Given the description of an element on the screen output the (x, y) to click on. 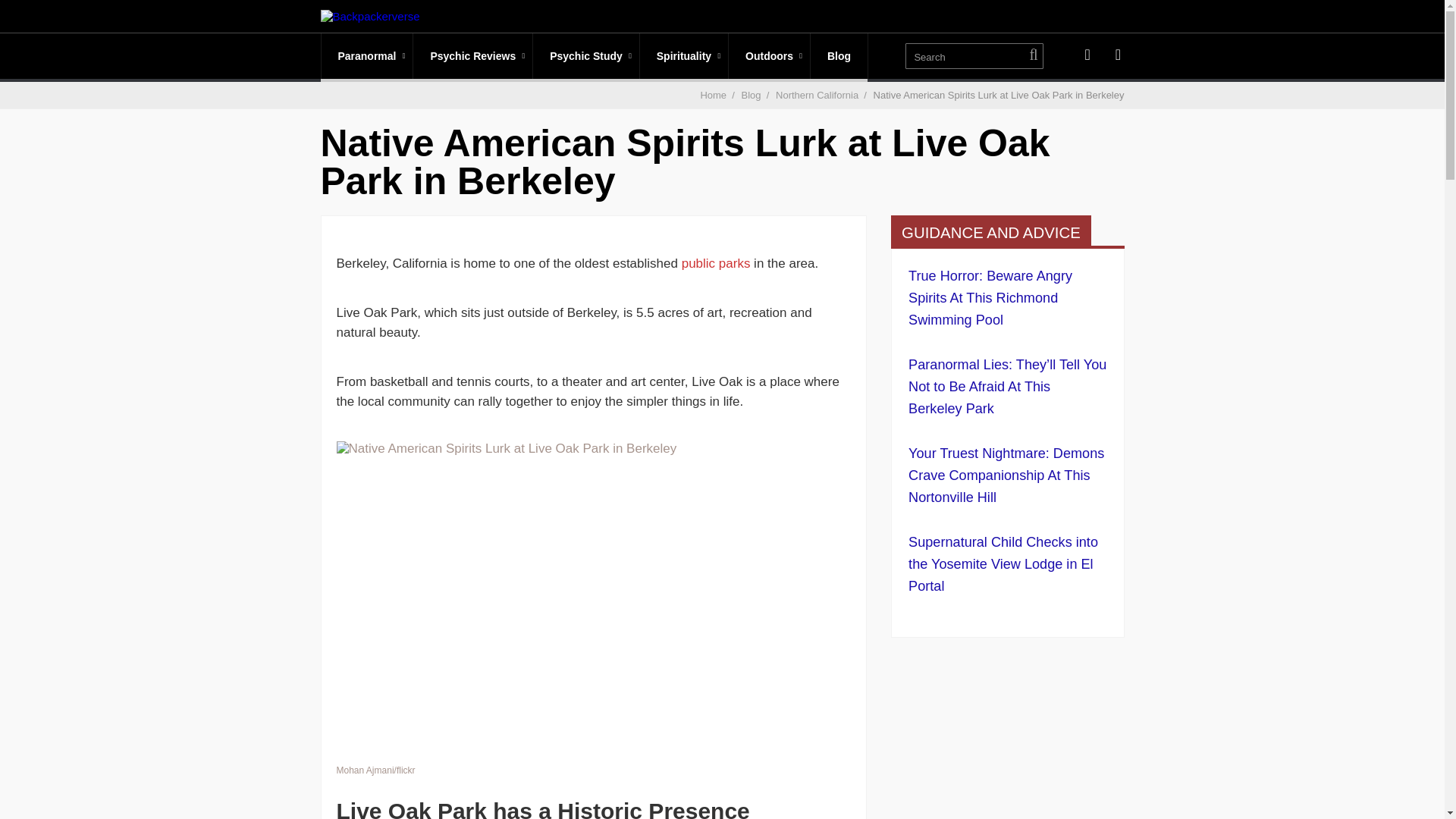
Psychic Reviews (472, 55)
Psychic Study (585, 55)
Paranormal (367, 55)
